Given the description of an element on the screen output the (x, y) to click on. 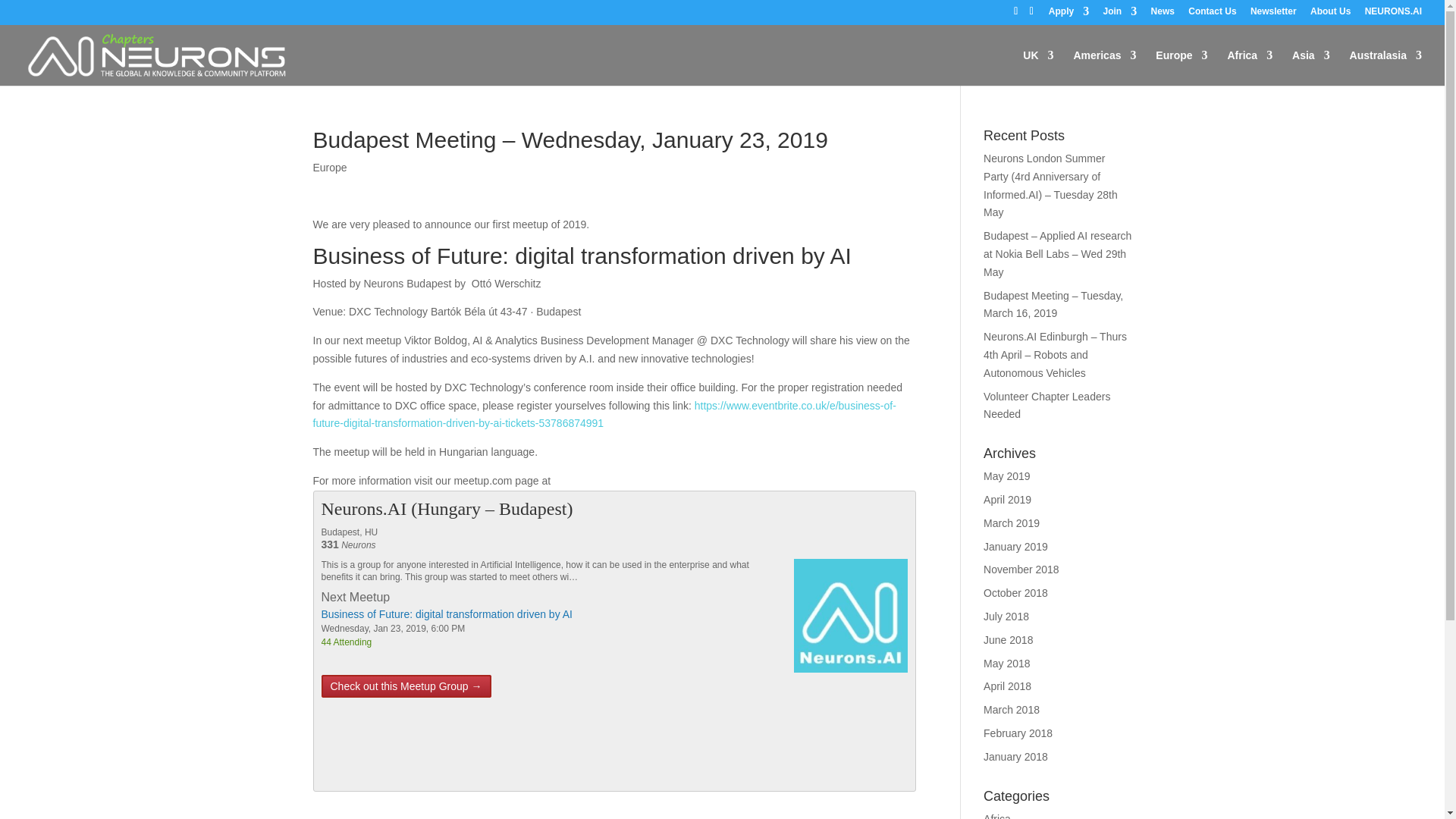
Join (1120, 14)
News (1162, 14)
Americas (1104, 67)
Newsletter (1273, 14)
Europe (1181, 67)
Apply (1068, 14)
About Us (1330, 14)
Contact Us (1212, 14)
NEURONS.AI (1393, 14)
